Given the description of an element on the screen output the (x, y) to click on. 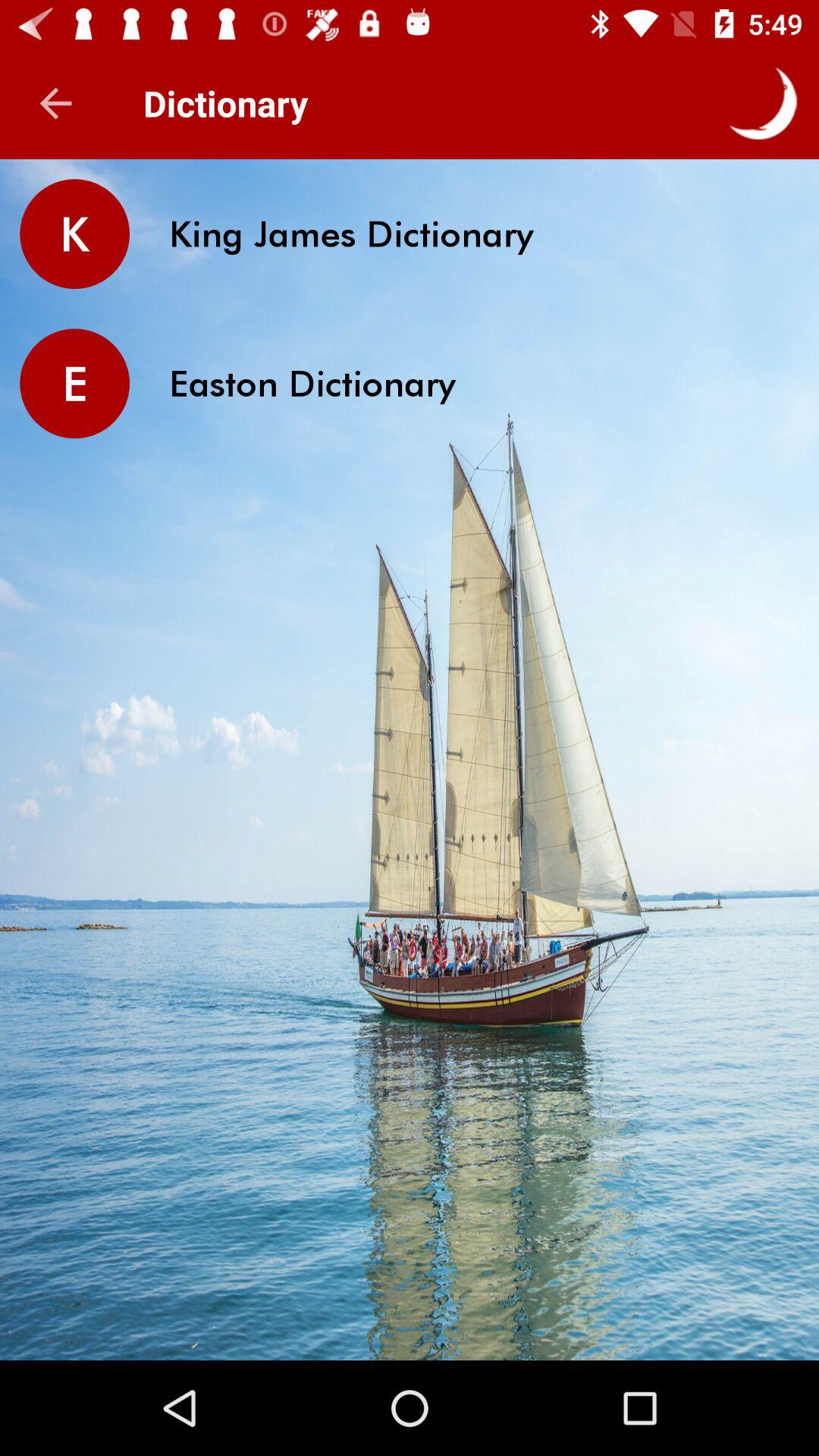
menu page (763, 103)
